Given the description of an element on the screen output the (x, y) to click on. 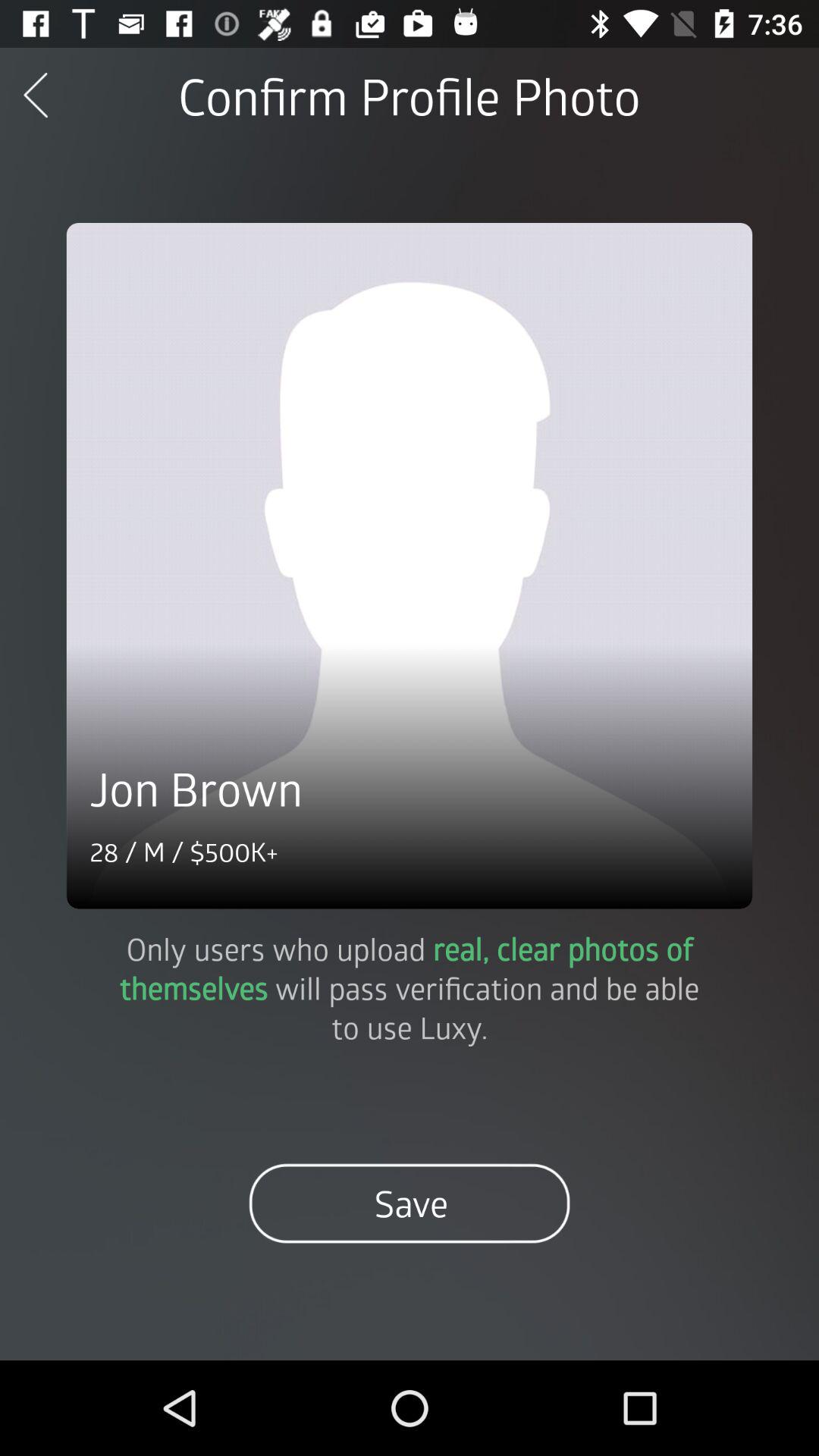
turn off the icon above save icon (409, 987)
